Given the description of an element on the screen output the (x, y) to click on. 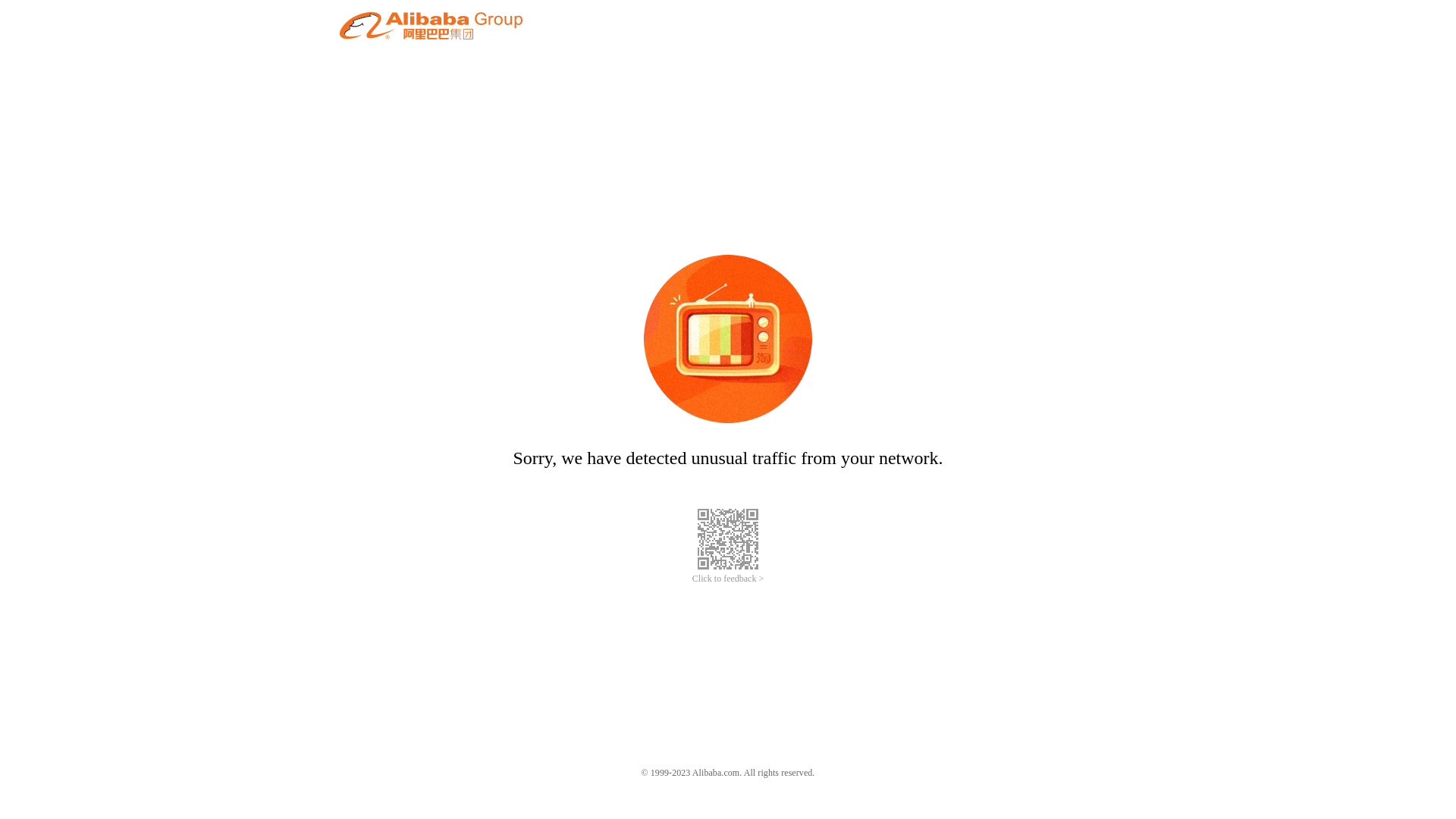
Click to feedback > Element type: text (727, 578)
